Given the description of an element on the screen output the (x, y) to click on. 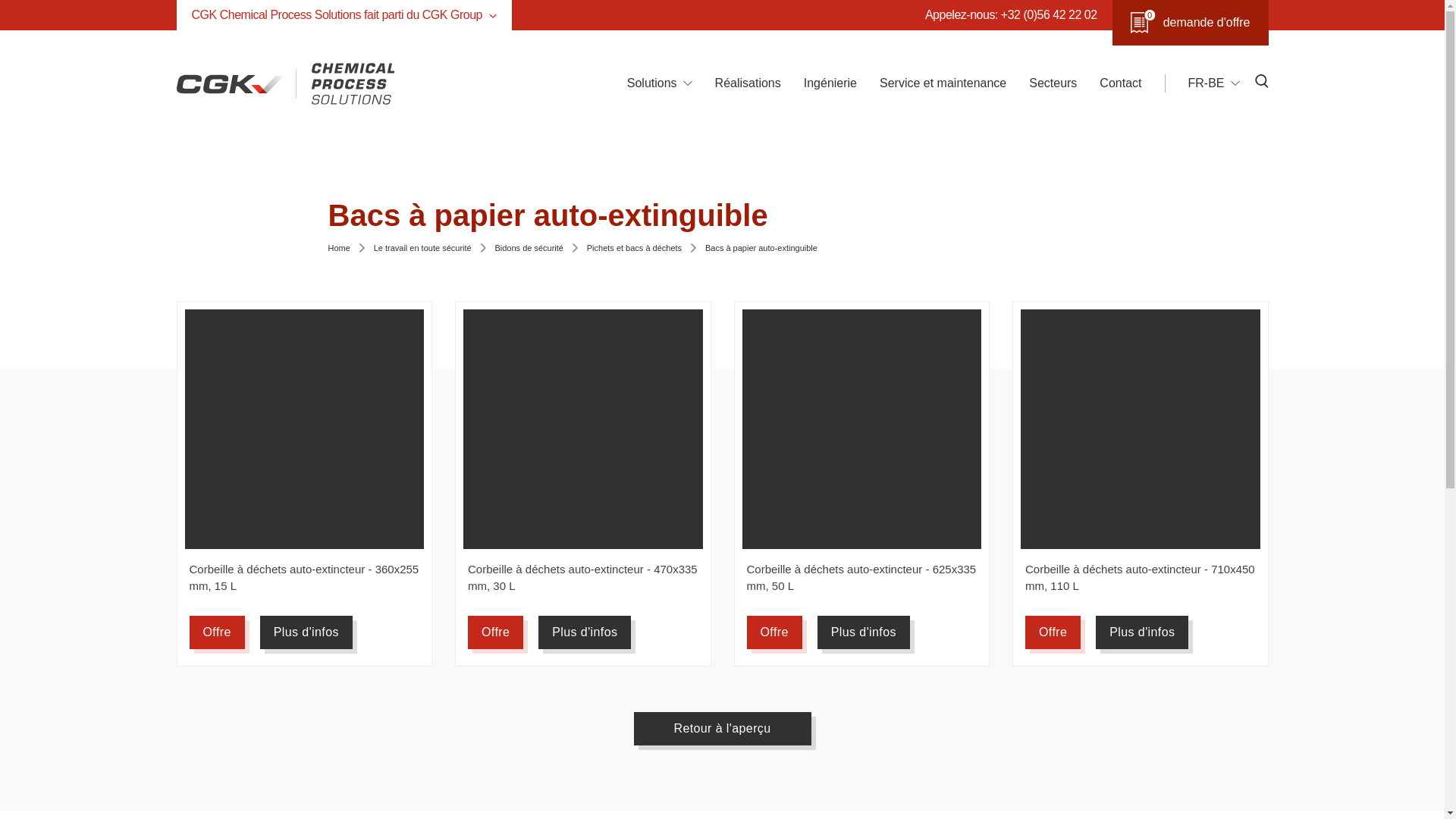
Secteurs Element type: text (1052, 83)
Service et maintenance Element type: text (942, 83)
Contact Element type: text (1120, 83)
Appelez-nous: +32 (0)56 42 22 02 Element type: text (1011, 15)
Recherche Element type: text (1027, 168)
Plus d'infos Element type: text (584, 632)
Solutions Element type: text (652, 83)
CGK Chemical Process Solutions fait parti du CGK Group Element type: text (343, 15)
demande d'offre Element type: text (1190, 22)
Offre Element type: text (773, 632)
Offre Element type: text (495, 632)
Home Element type: text (338, 248)
Offre Element type: text (1052, 632)
Plus d'infos Element type: text (863, 632)
Plus d'infos Element type: text (306, 632)
Offre Element type: text (216, 632)
Plus d'infos Element type: text (1141, 632)
